Given the description of an element on the screen output the (x, y) to click on. 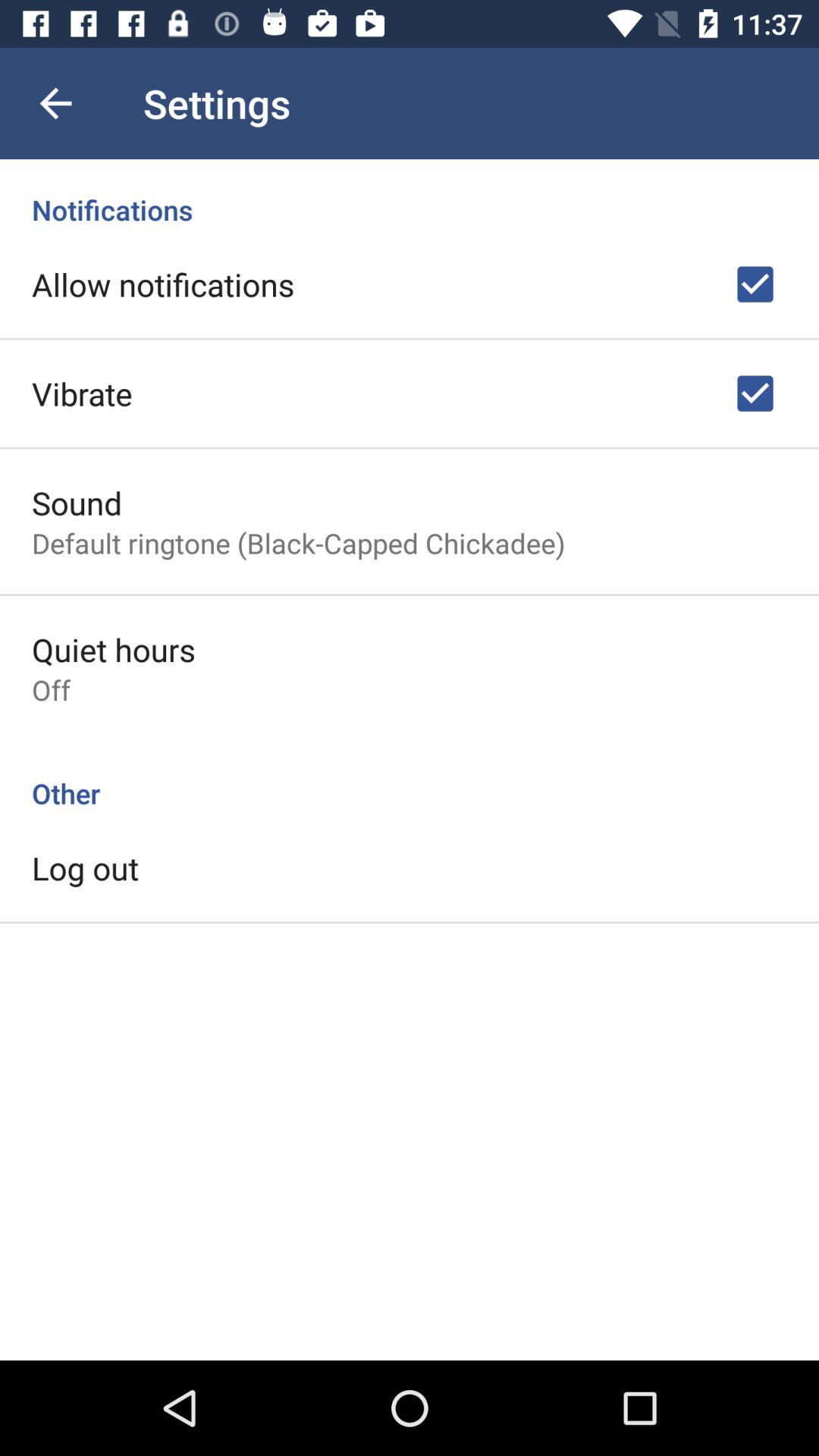
swipe until the sound (76, 502)
